Given the description of an element on the screen output the (x, y) to click on. 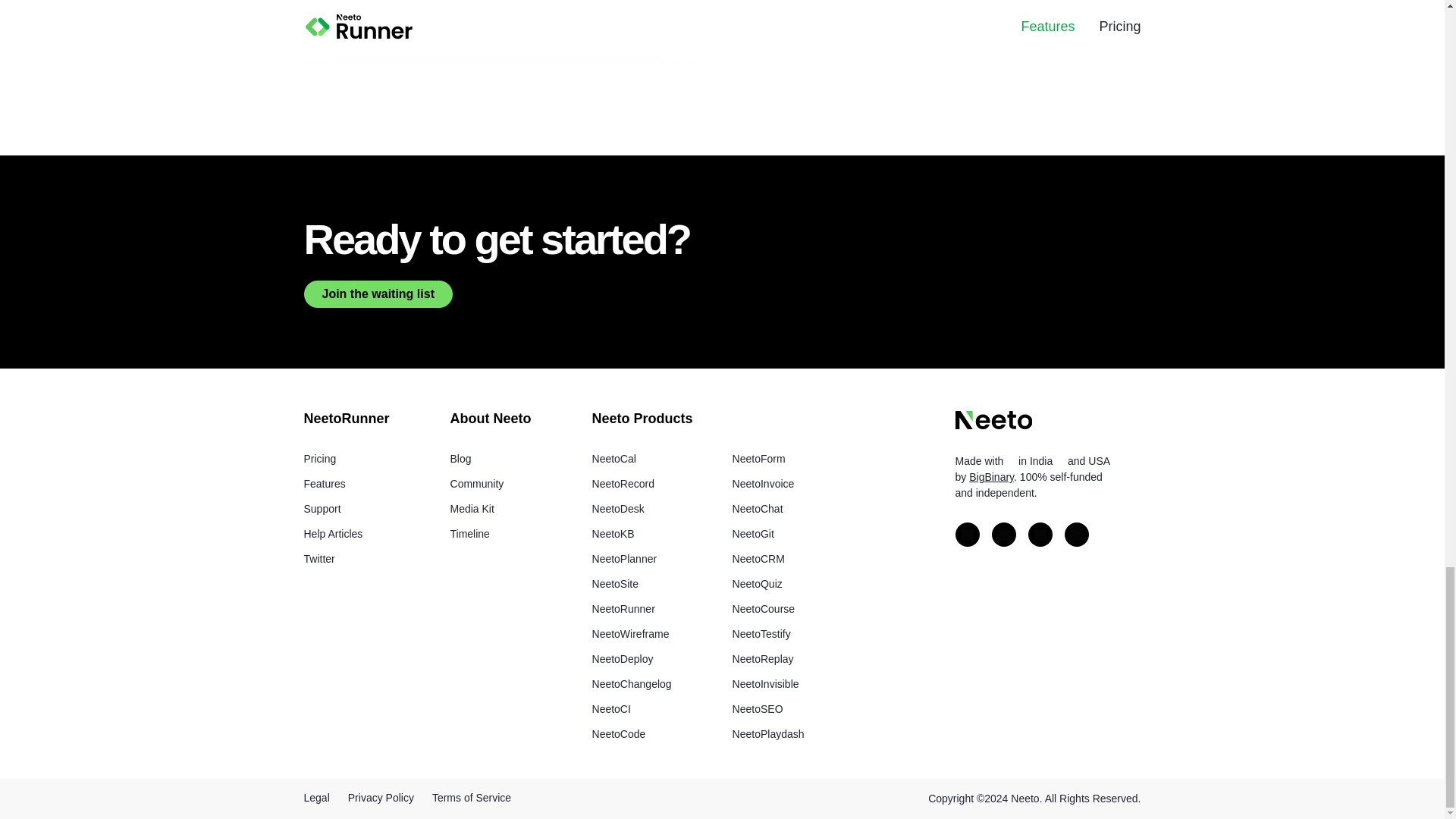
Timeline (469, 533)
Support (321, 508)
NeetoRecord (623, 483)
Pricing (319, 458)
Blog (460, 458)
Help Articles (332, 533)
NeetoInvoice (763, 483)
NeetoReplay (762, 658)
NeetoSEO (757, 708)
Twitter (318, 558)
